Given the description of an element on the screen output the (x, y) to click on. 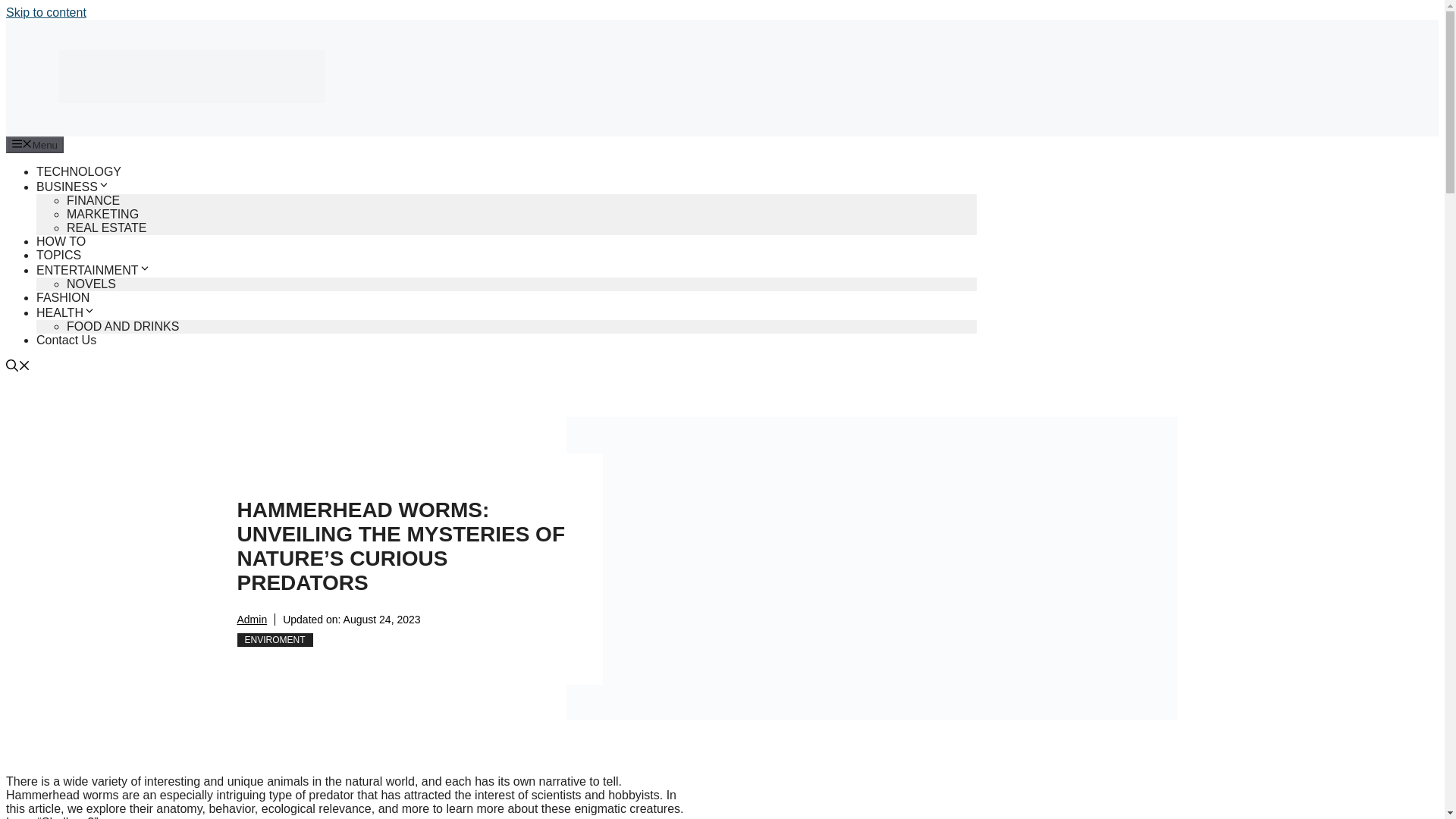
Contact Us (66, 339)
Skip to content (45, 11)
REAL ESTATE (106, 227)
Menu (34, 144)
ENTERTAINMENT (93, 269)
FOOD AND DRINKS (122, 326)
Skip to content (45, 11)
MARKETING (102, 214)
ENVIROMENT (274, 640)
TOPICS (58, 254)
